Given the description of an element on the screen output the (x, y) to click on. 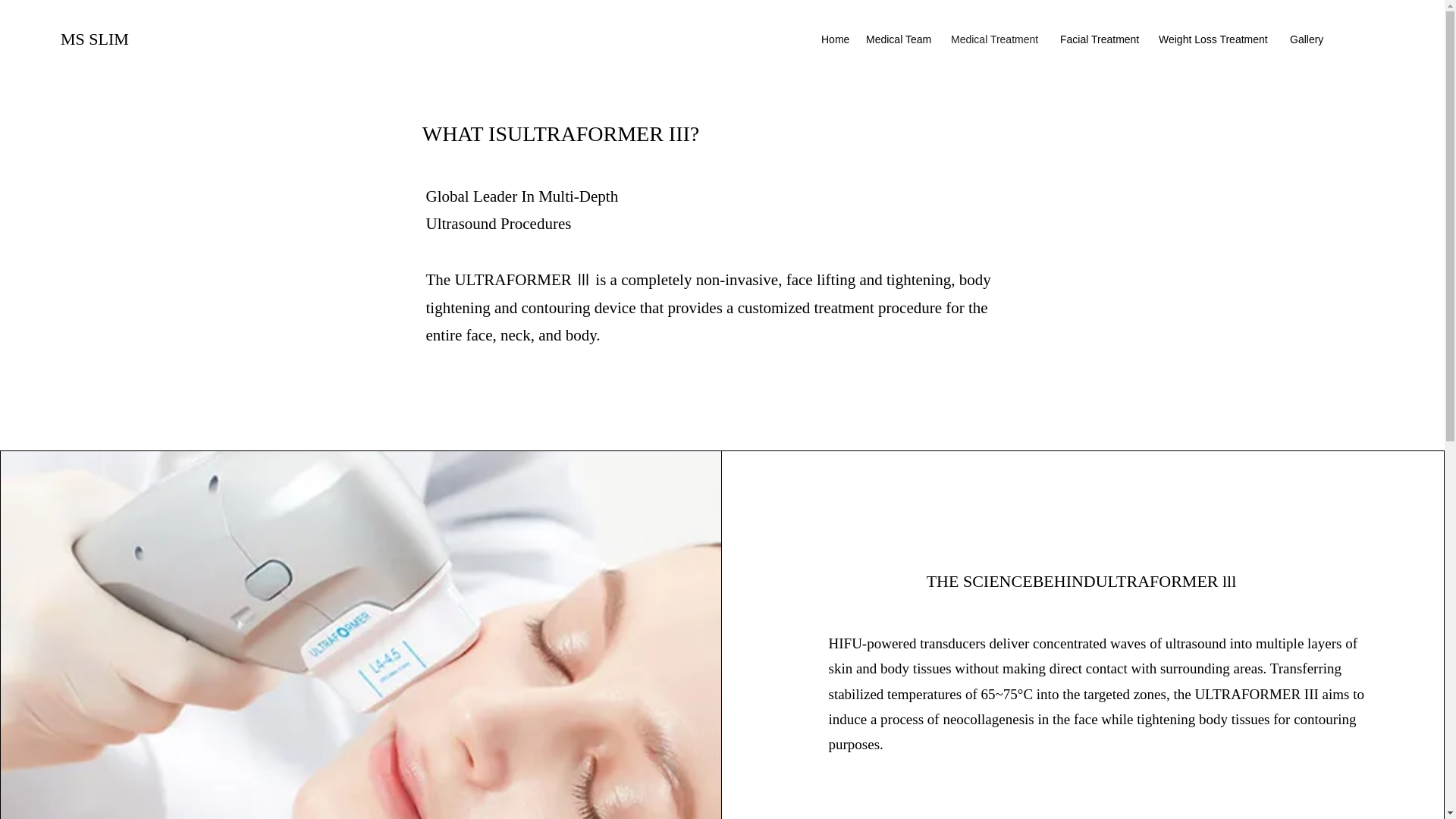
Home (836, 38)
MS SLIM (95, 38)
Medical Treatment (997, 38)
Weight Loss Treatment (1216, 38)
Medical Team (901, 38)
Gallery (1307, 38)
Facial Treatment (1101, 38)
